Given the description of an element on the screen output the (x, y) to click on. 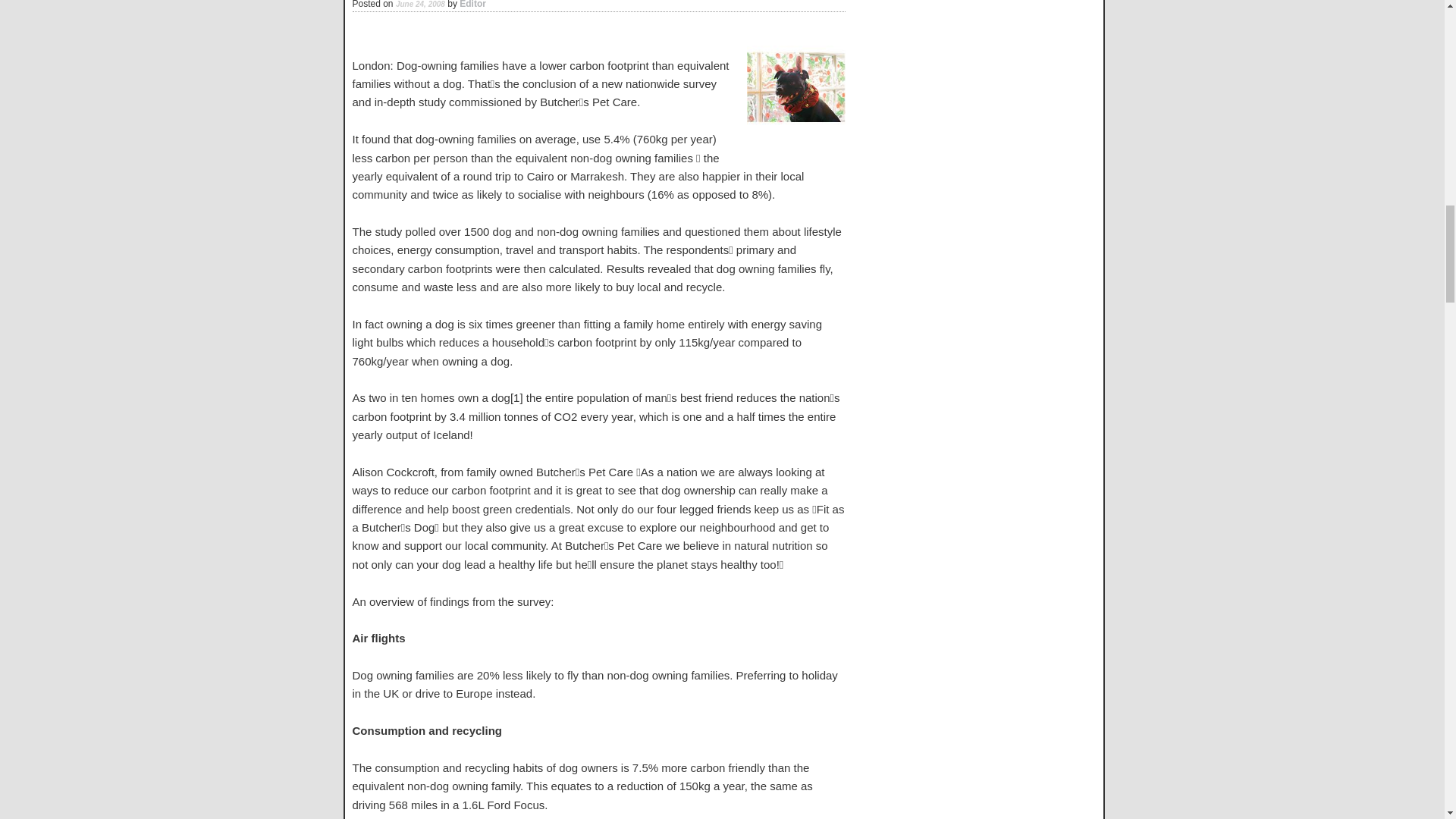
11:18 am (420, 4)
View all posts by Editor (473, 4)
